Given the description of an element on the screen output the (x, y) to click on. 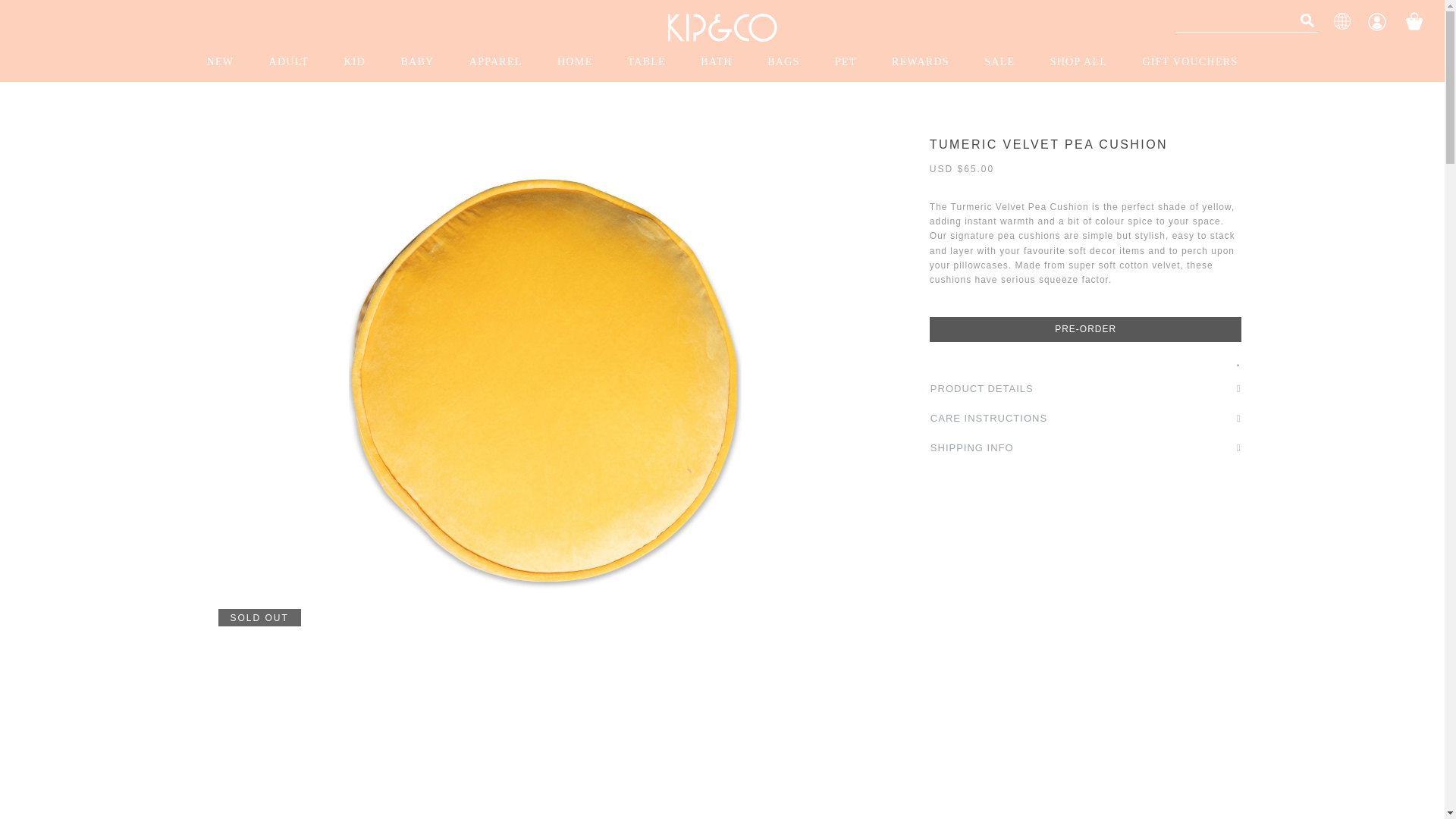
BABY (417, 61)
BAGS (782, 61)
HOME (574, 61)
APPAREL (495, 61)
REWARDS (920, 61)
BATH (716, 61)
ADULT (288, 61)
TABLE (646, 61)
